Given the description of an element on the screen output the (x, y) to click on. 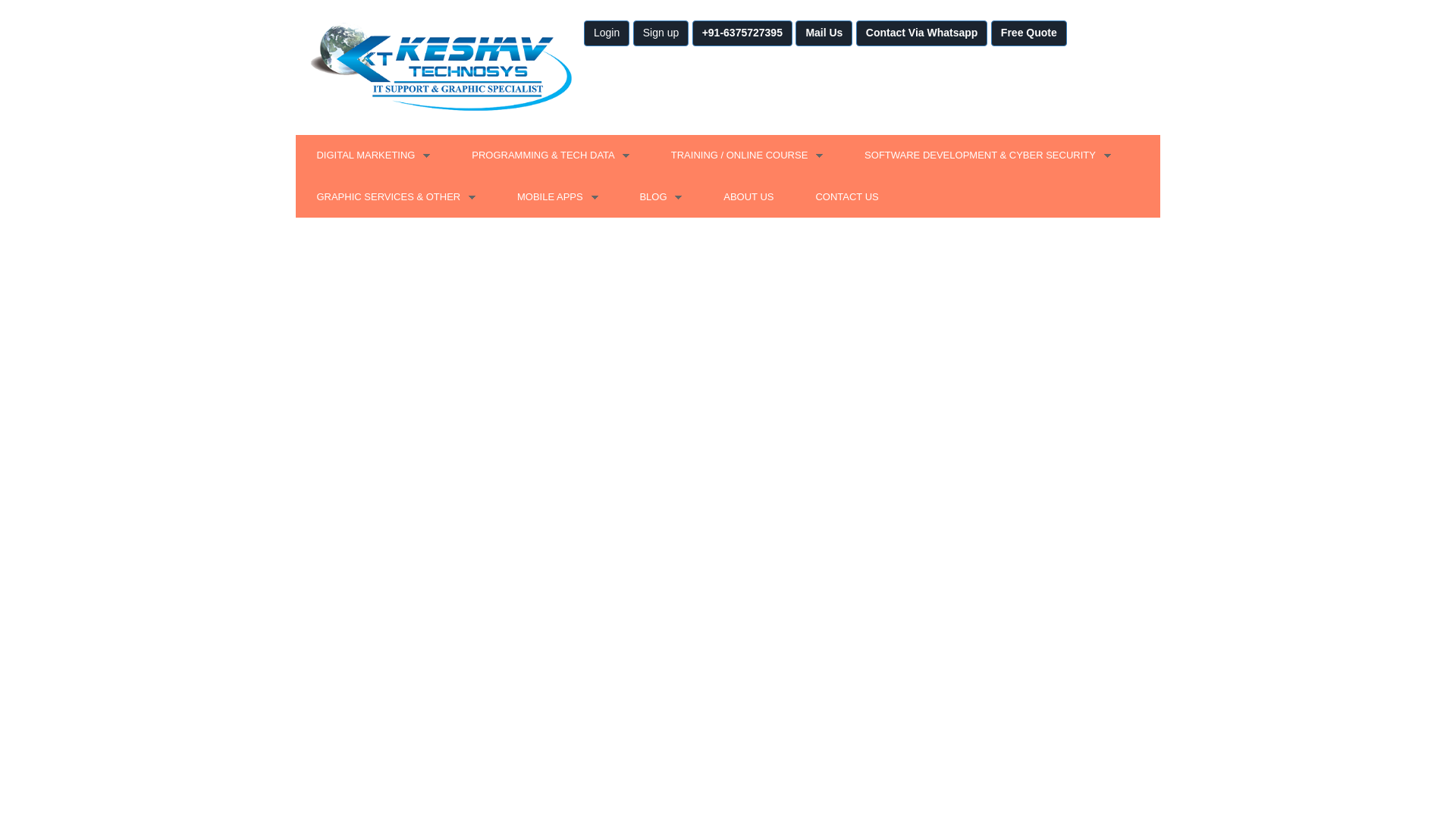
Login (605, 32)
DIGITAL MARKETING   (373, 155)
Contact Via Whatsapp (922, 32)
Mail Us (822, 32)
Login (660, 32)
Enquiry (742, 32)
Whatsapp (922, 32)
Login (605, 32)
Ajmer Web Design Company (439, 67)
Quote (1029, 32)
Mail (822, 32)
Sign up (660, 32)
Free Quote (1029, 32)
